Given the description of an element on the screen output the (x, y) to click on. 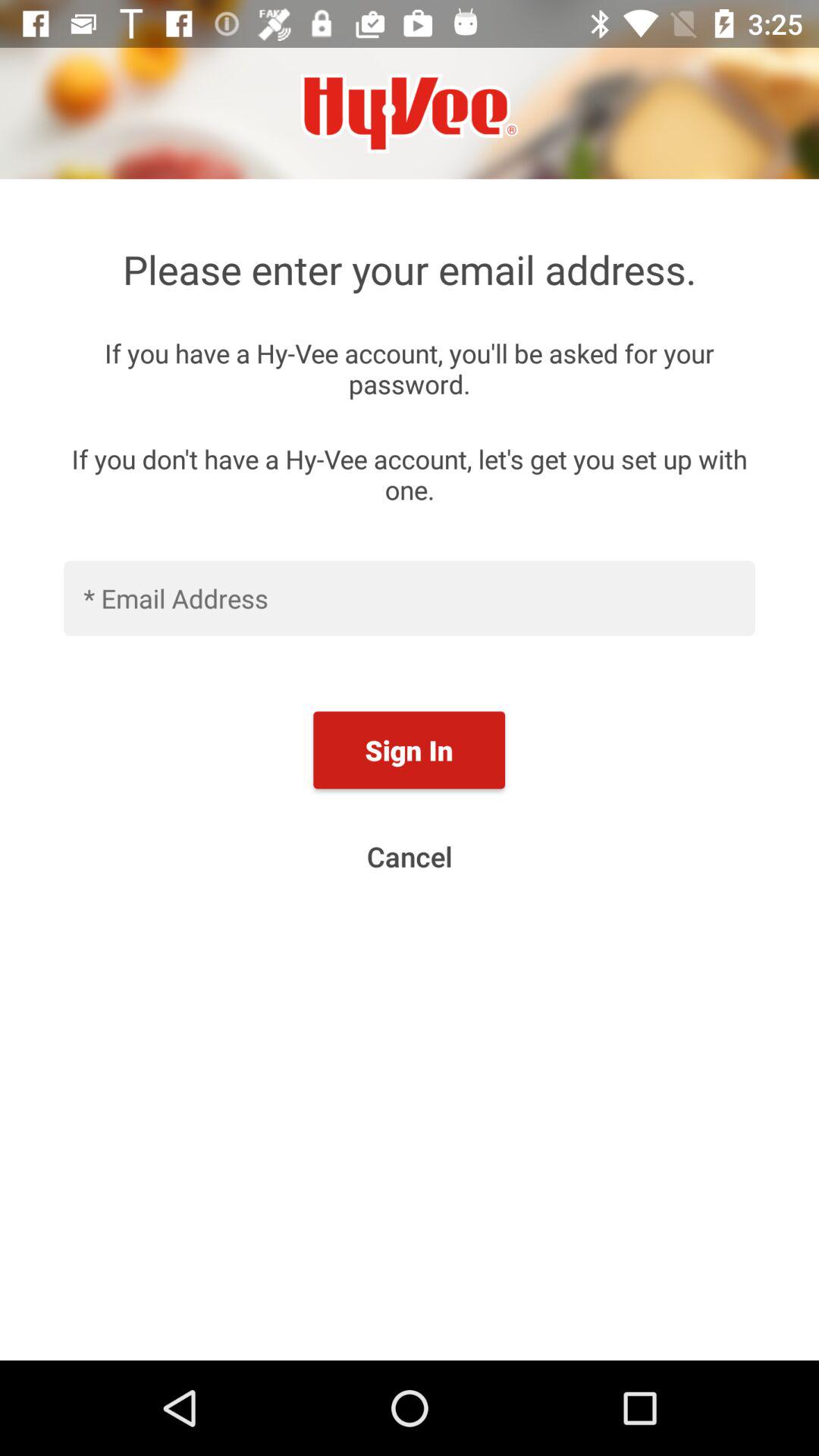
open the item below the sign in (409, 856)
